Given the description of an element on the screen output the (x, y) to click on. 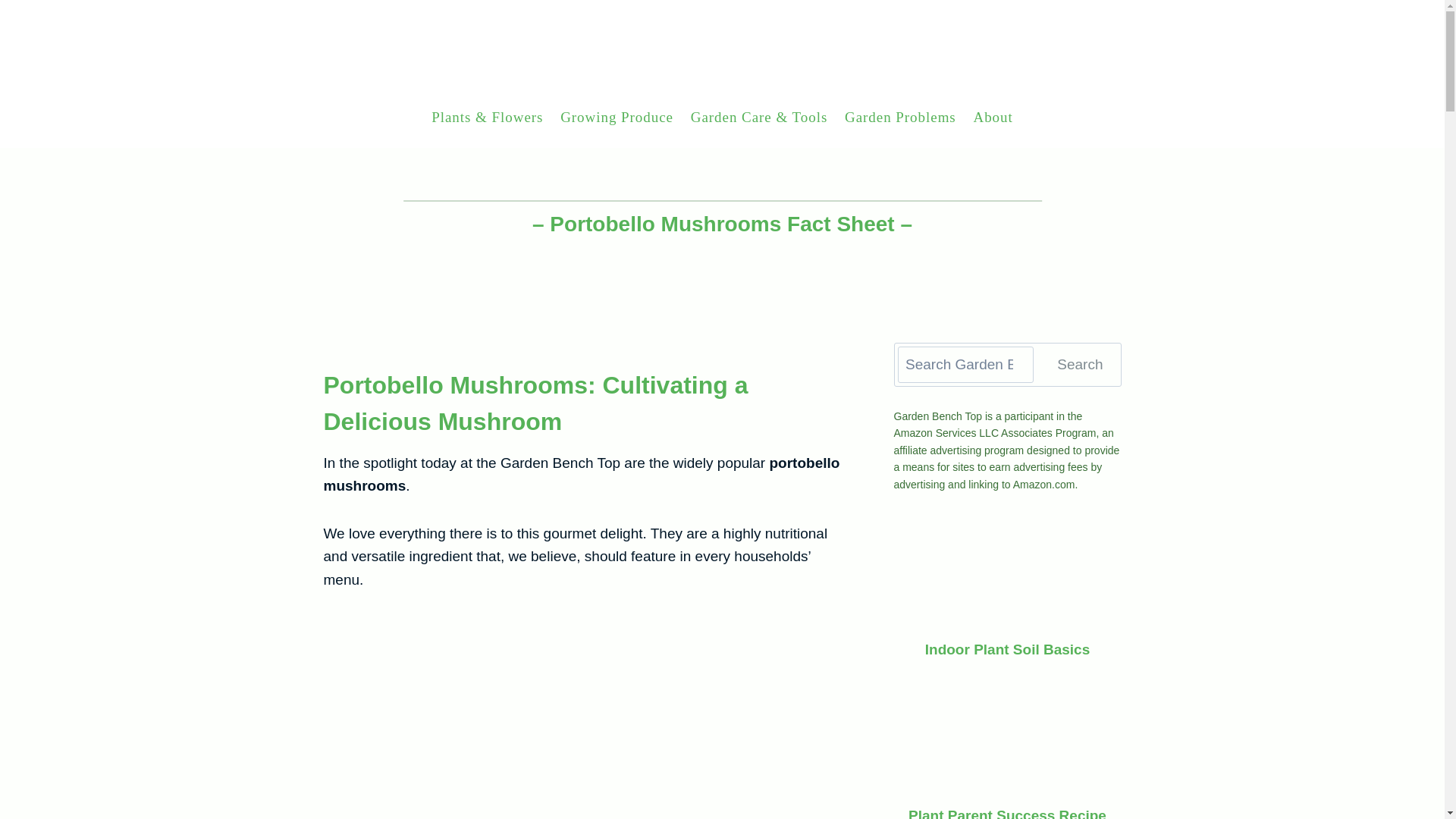
Garden Problems (899, 117)
About (992, 117)
Indoor Plant Soil Basics (1007, 649)
Plant Parent Success Recipe (1007, 813)
Growing Produce (616, 117)
Search (1079, 364)
